Given the description of an element on the screen output the (x, y) to click on. 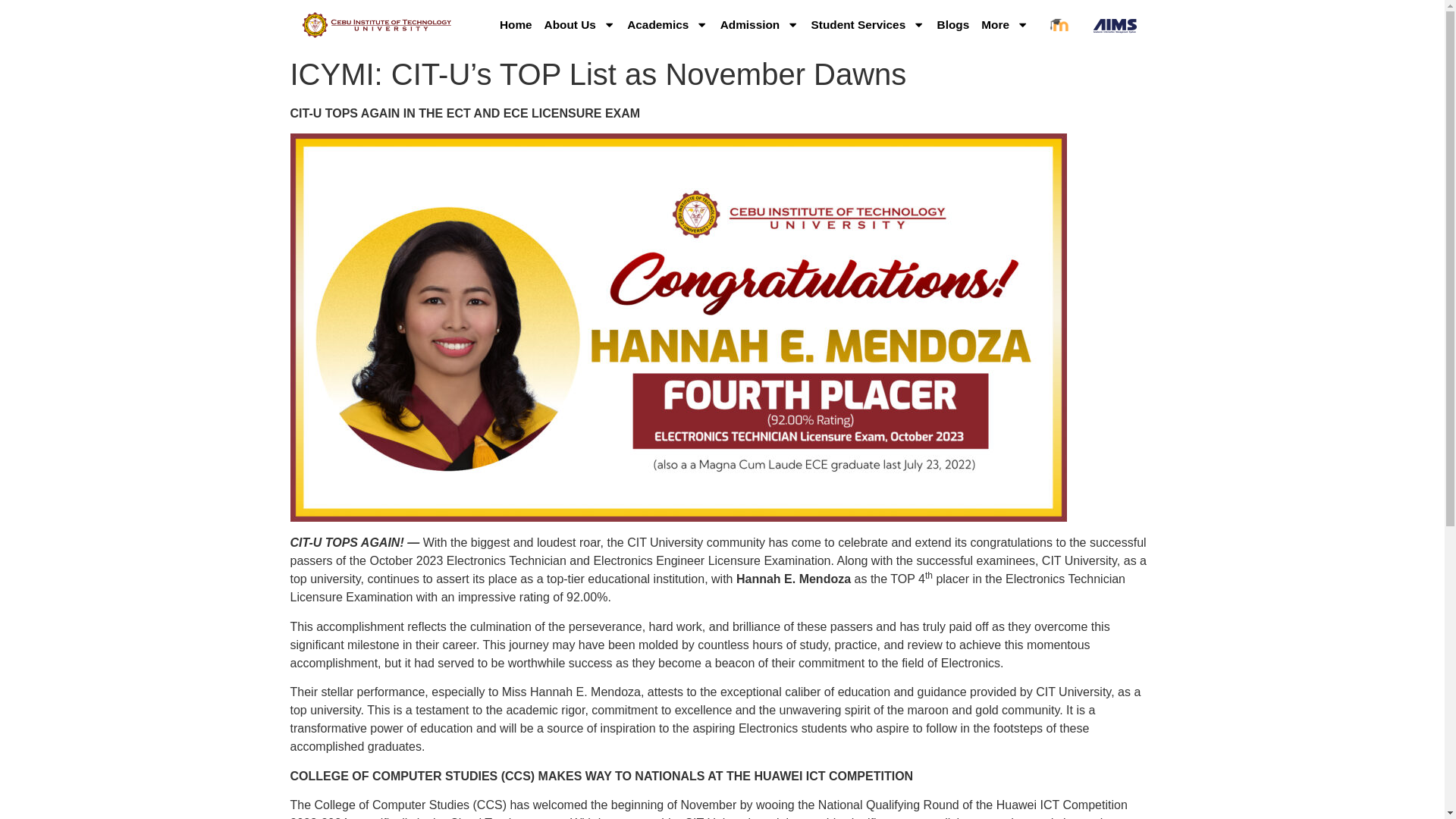
Admission (759, 24)
About Us (579, 24)
Academics (667, 24)
Home (515, 24)
